Given the description of an element on the screen output the (x, y) to click on. 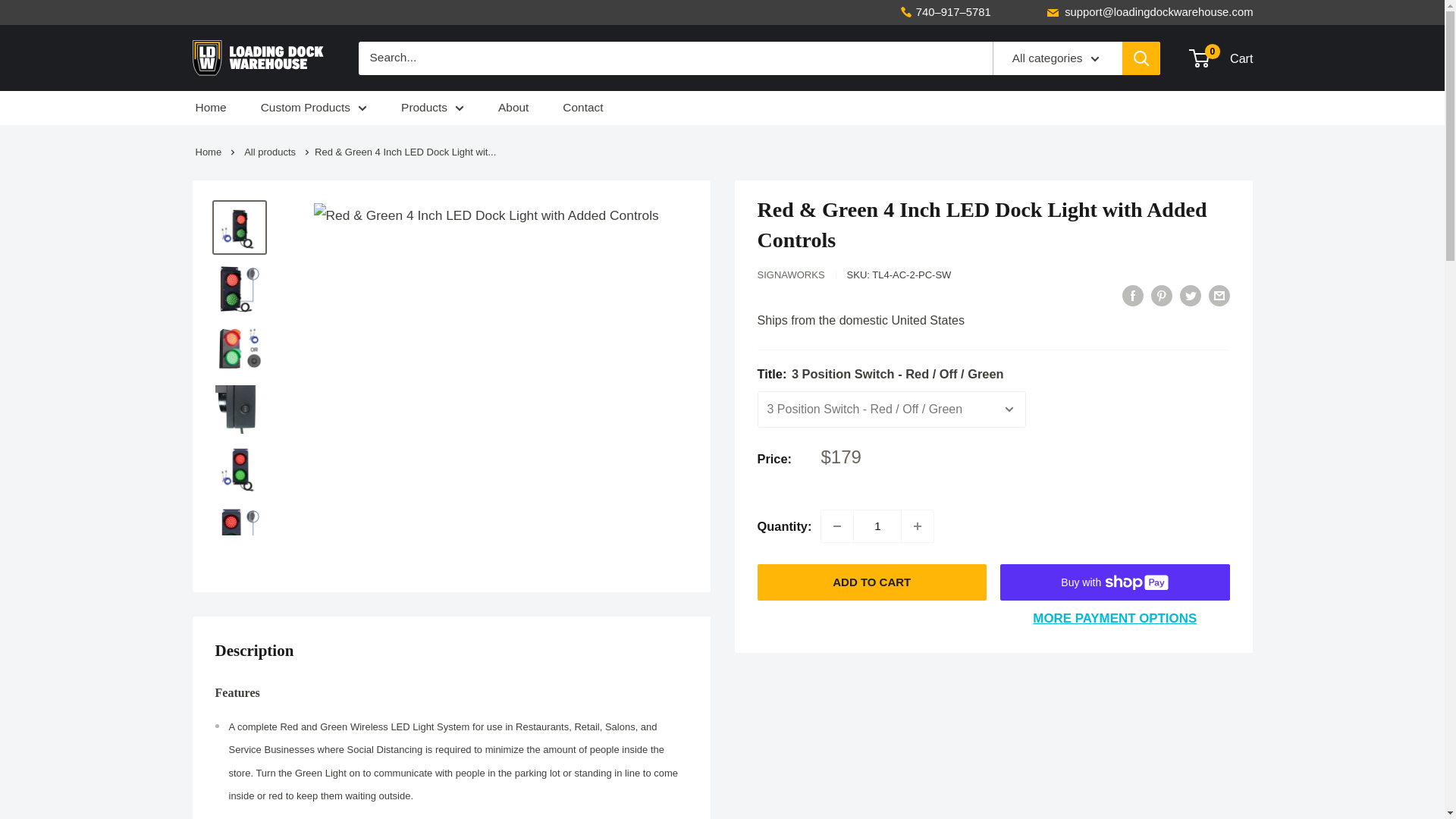
Increase quantity by 1 (917, 526)
1 (877, 526)
Decrease quantity by 1 (837, 526)
